Given the description of an element on the screen output the (x, y) to click on. 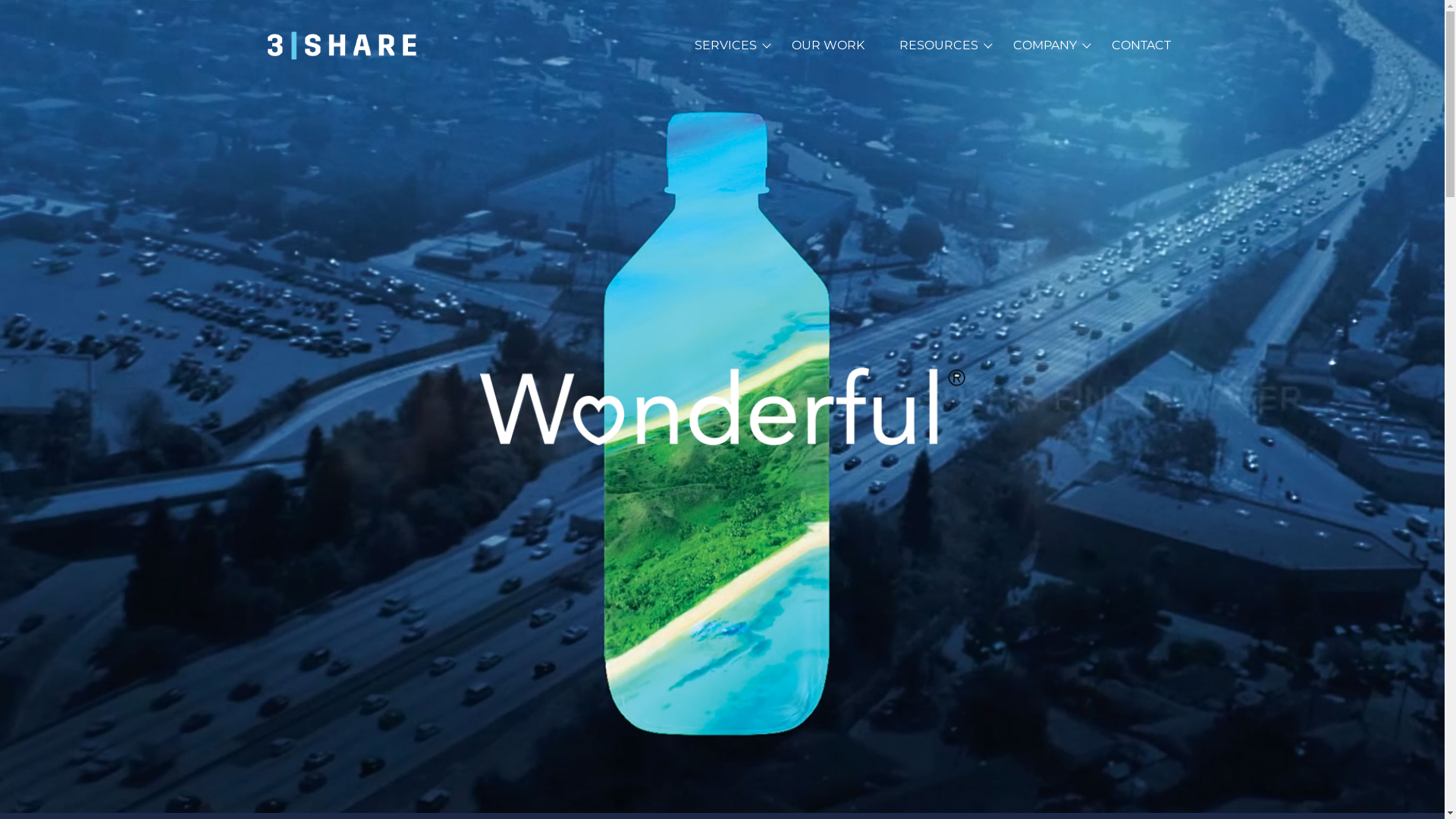
OUR WORK Element type: text (827, 45)
RESOURCES Element type: text (938, 45)
3SHARE_LOGO_WHITE_2018 Element type: hover (342, 45)
COMPANY Element type: text (1044, 45)
CONTACT Element type: text (1140, 45)
SERVICES Element type: text (725, 45)
